Given the description of an element on the screen output the (x, y) to click on. 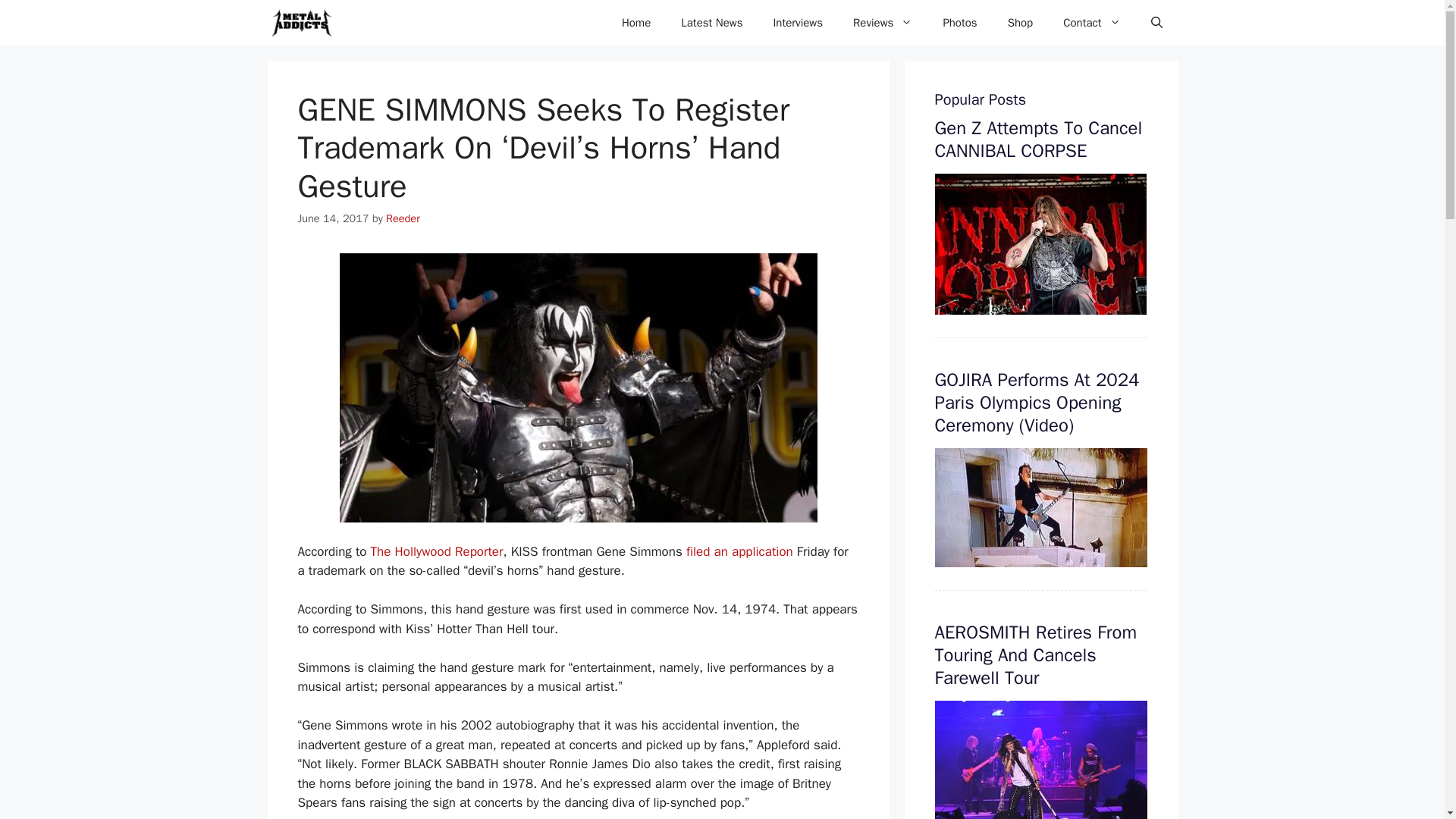
Interviews (797, 22)
filed an application (739, 551)
Home (636, 22)
AEROSMITH Retires From Touring And Cancels Farewell Tour (1035, 654)
Shop (1020, 22)
Metal Addicts (300, 22)
Contact (1091, 22)
The Hollywood Reporter (437, 551)
Reeder (402, 218)
Latest News (711, 22)
